Given the description of an element on the screen output the (x, y) to click on. 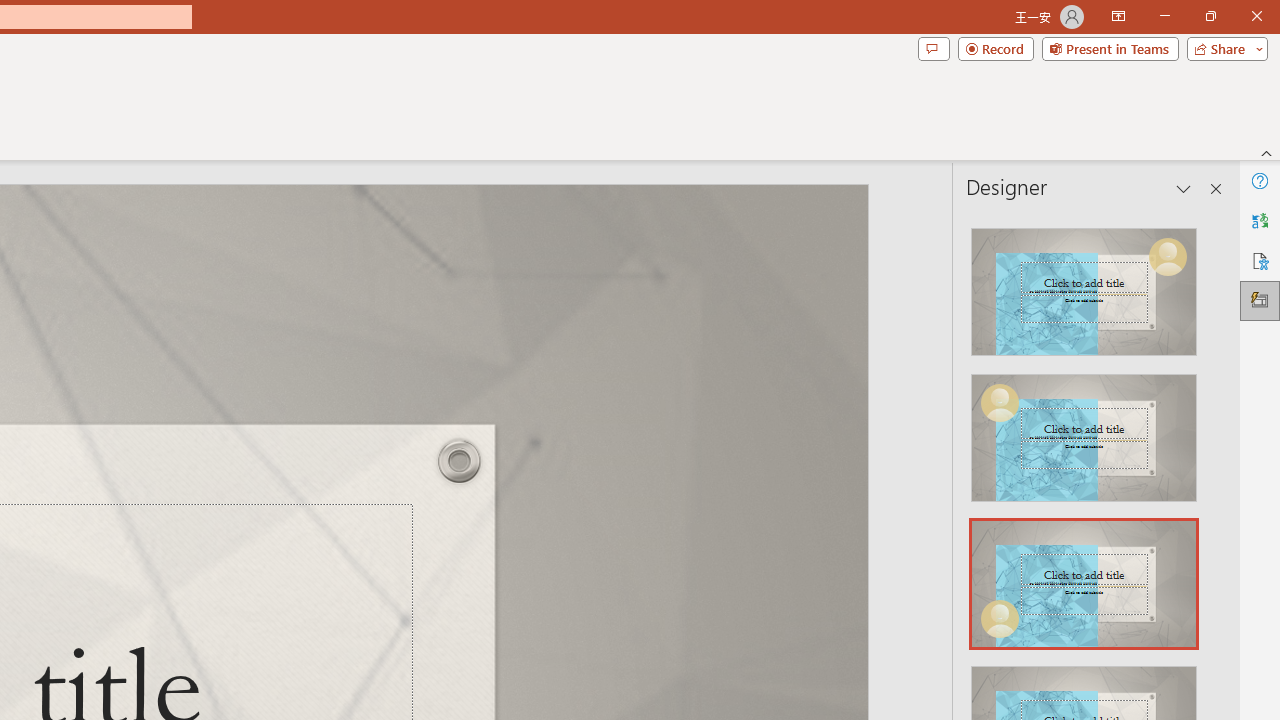
Close pane (1215, 188)
